Given the description of an element on the screen output the (x, y) to click on. 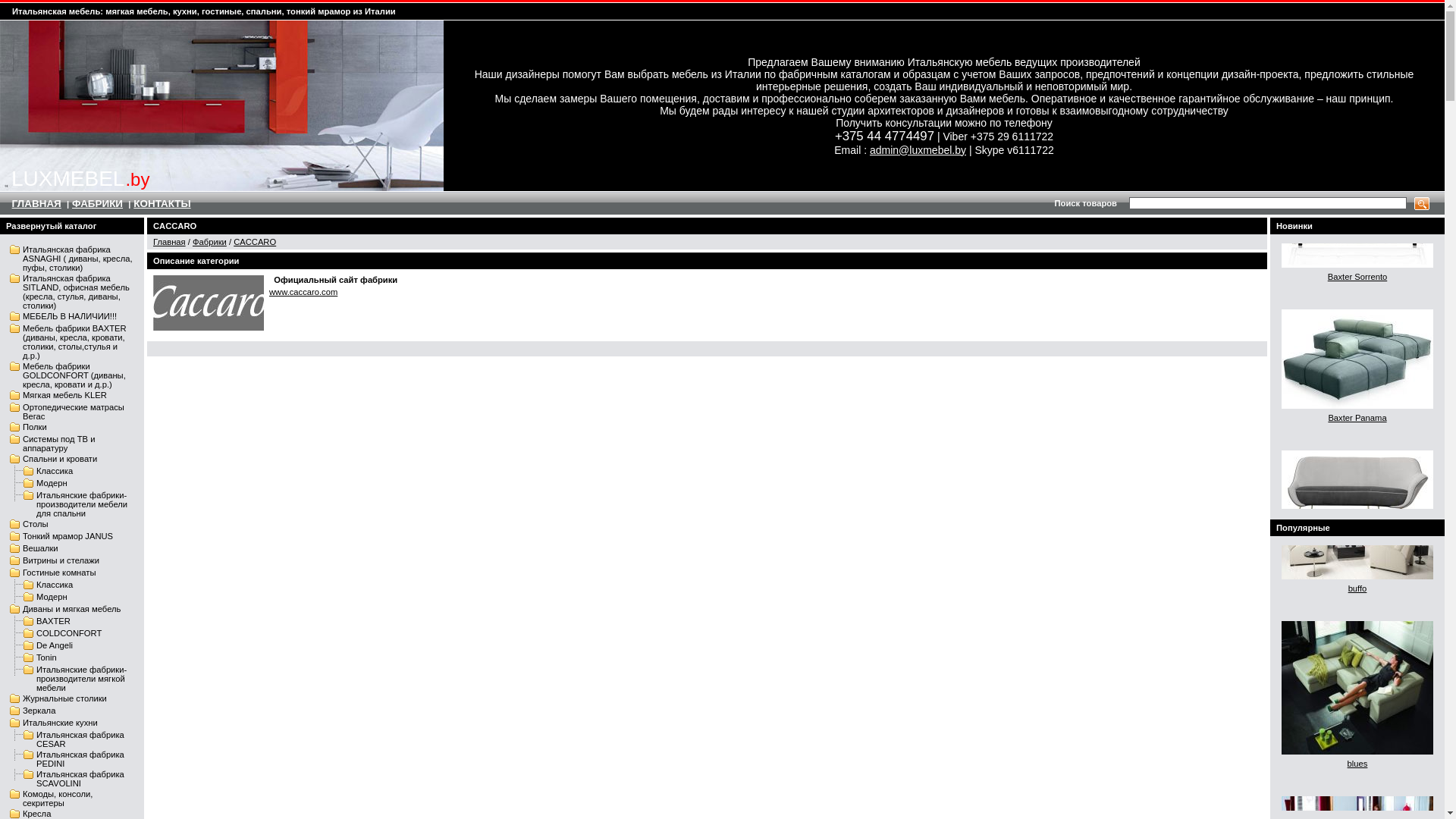
Baxter Panama Element type: text (1356, 481)
CACCARO Element type: text (254, 241)
Baxter Sorrento Element type: text (1356, 340)
BAXTER Element type: text (53, 620)
De Angeli Element type: text (54, 644)
blues Element type: text (1357, 793)
www.caccaro.com Element type: text (303, 290)
buffo Element type: text (1357, 619)
COLDCONFORT Element type: text (68, 632)
Tonin Element type: text (46, 657)
admin@luxmebel.by Element type: text (917, 150)
